Given the description of an element on the screen output the (x, y) to click on. 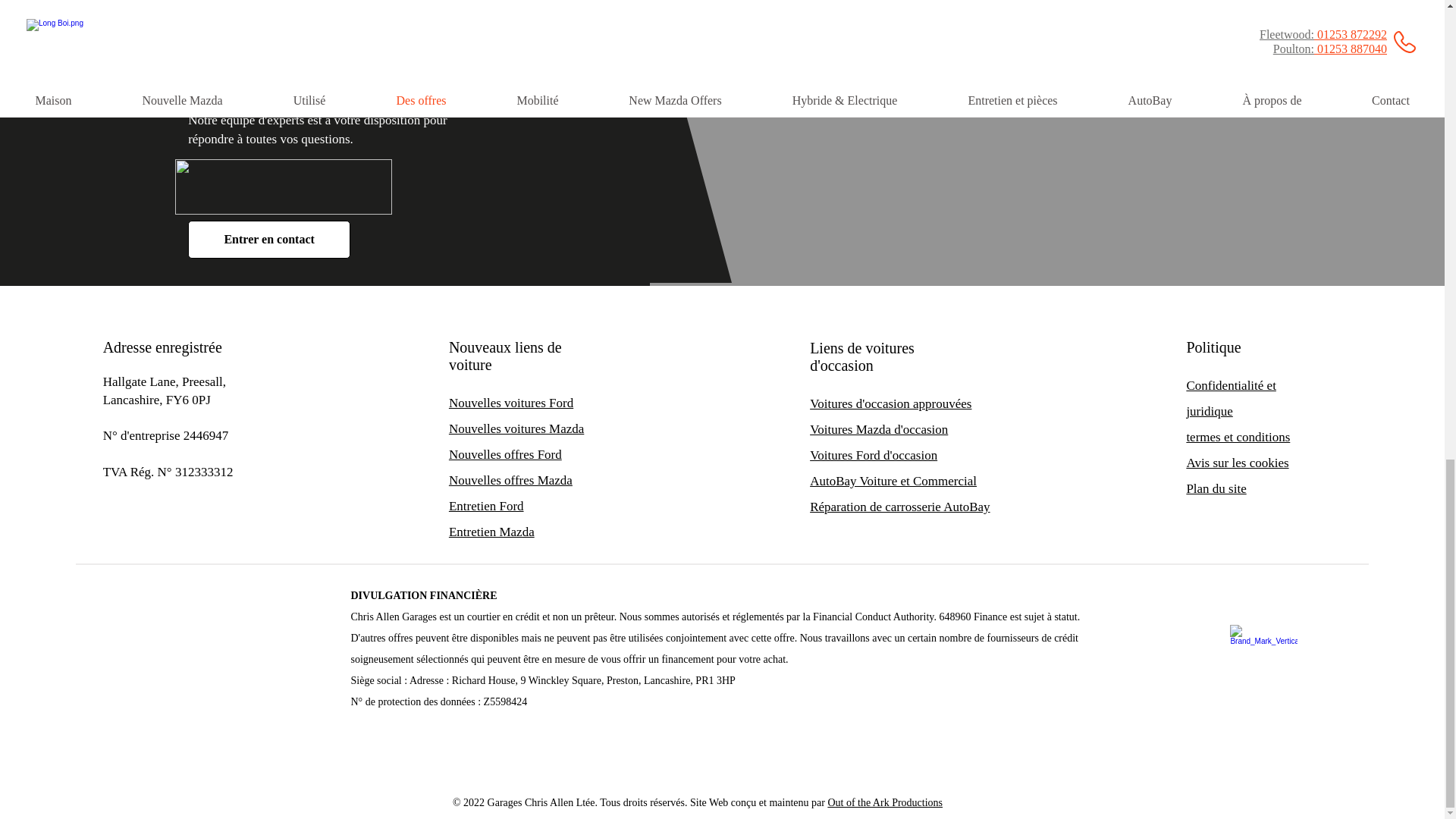
CAM White.png (282, 186)
